Given the description of an element on the screen output the (x, y) to click on. 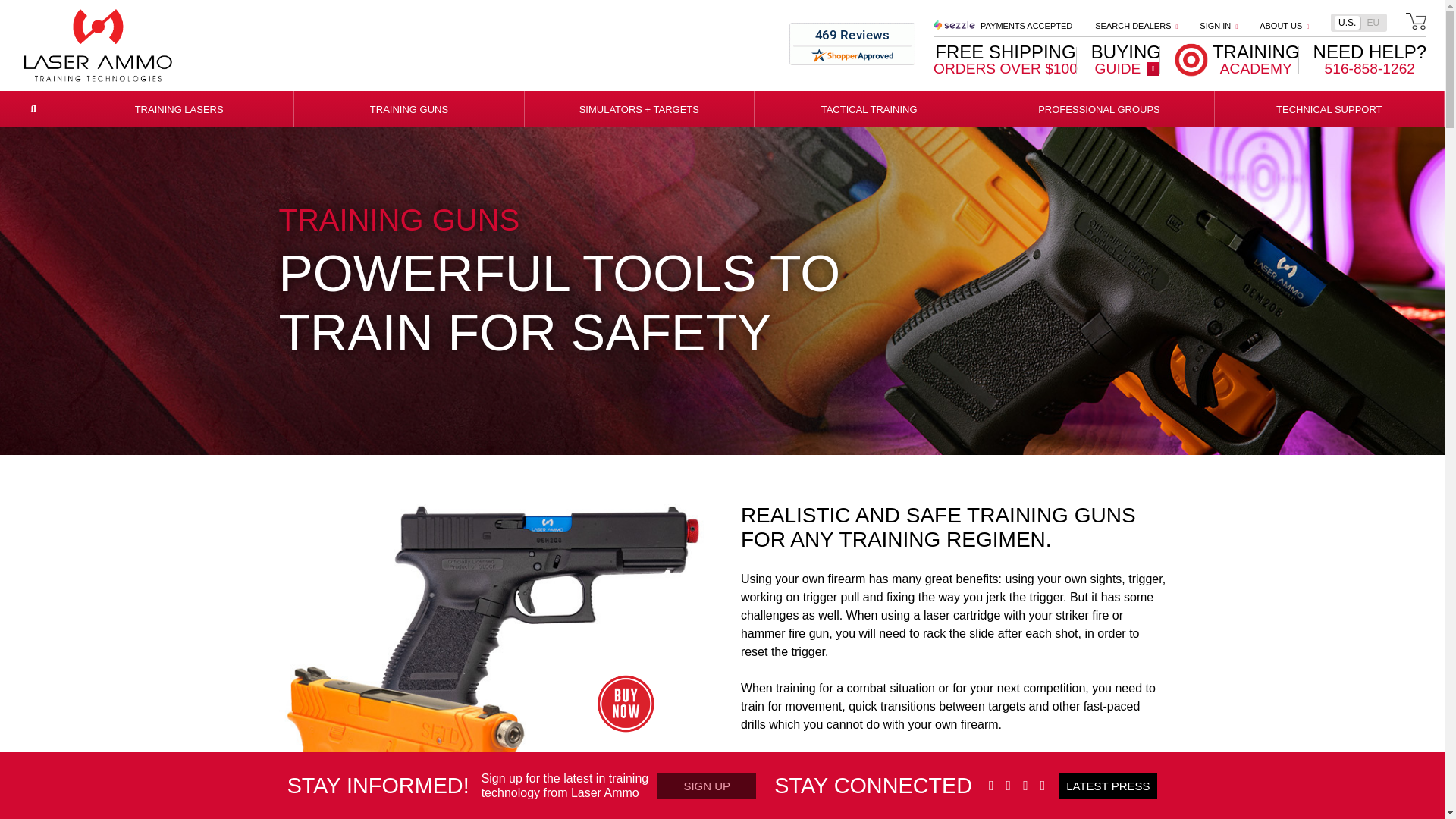
SEARCH DEALERS (1135, 25)
PAYMENTS ACCEPTED (1237, 59)
TRAINING GUNS (1025, 25)
TRAINING LASERS (1369, 59)
EU (408, 108)
SIGN IN (179, 108)
Help widget launcher (1372, 22)
ABOUT US (1218, 25)
